Given the description of an element on the screen output the (x, y) to click on. 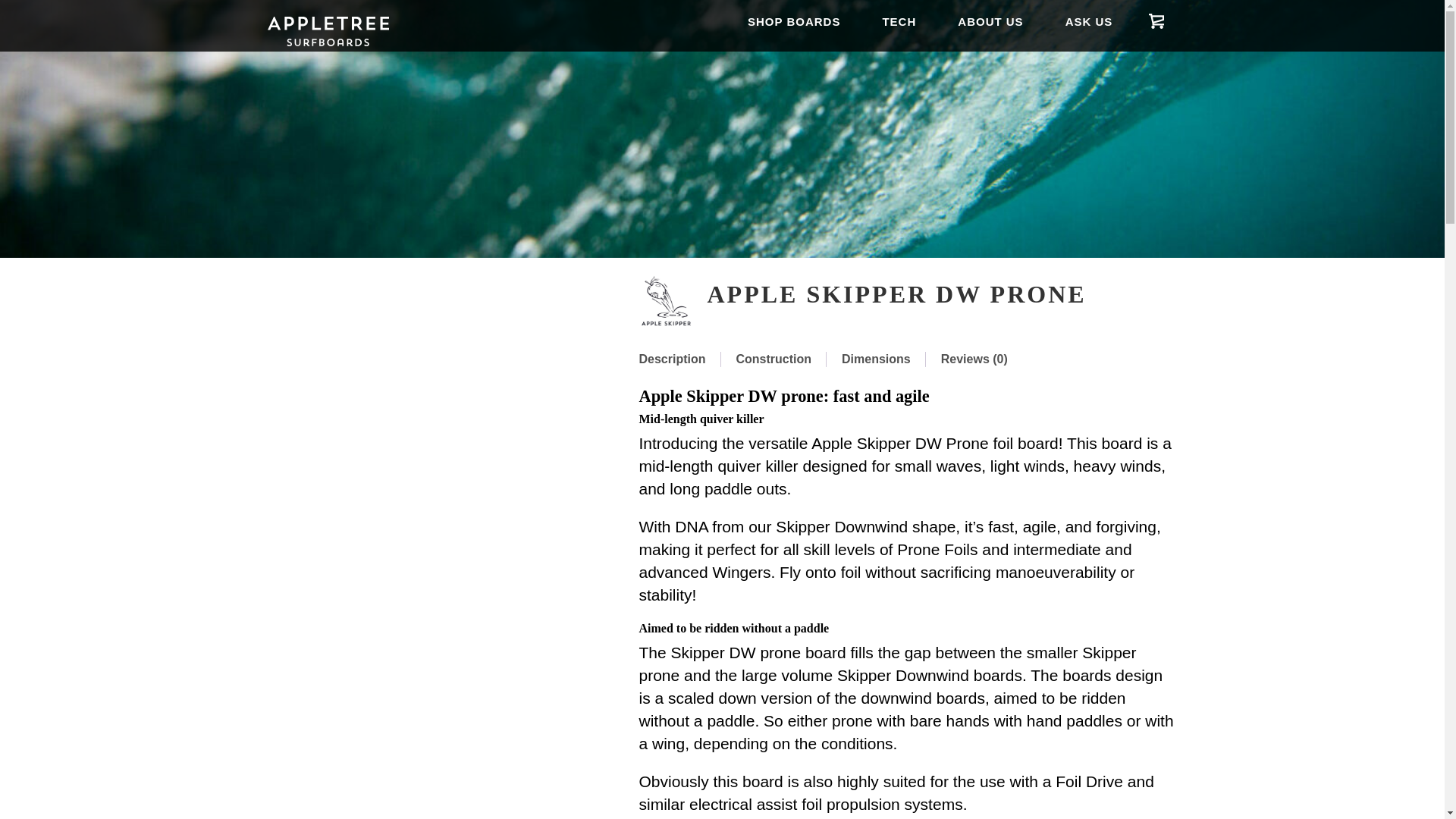
ASK US (1089, 22)
ABOUT US (989, 22)
Tech (898, 22)
TECH (898, 22)
SHOP BOARDS (793, 22)
About us (989, 22)
Shop Boards (793, 22)
APPLETREE SURFBOARDS (327, 43)
